Given the description of an element on the screen output the (x, y) to click on. 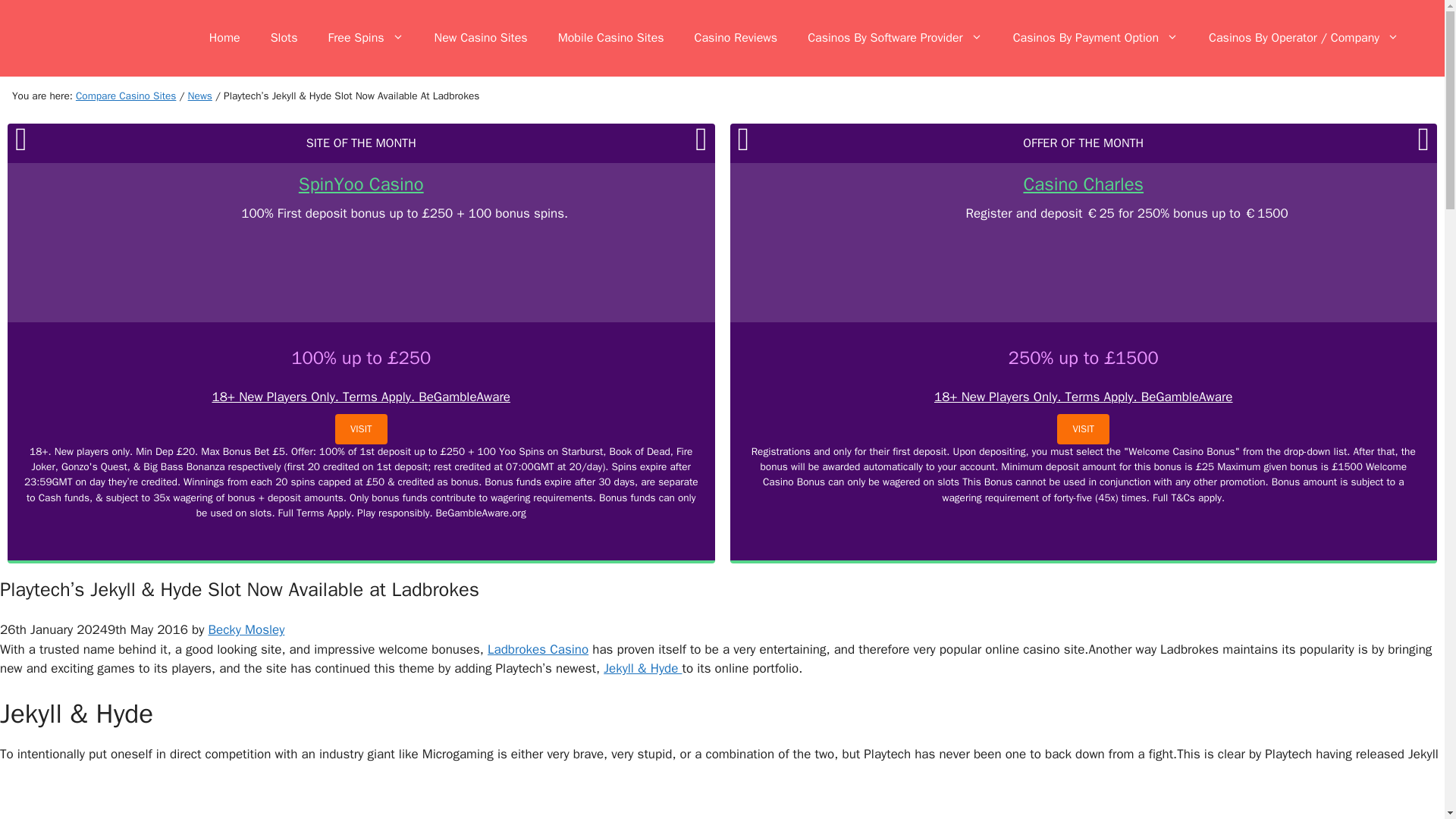
Casinos By Payment Option (1095, 37)
Casino Reviews (736, 37)
Mobile Casino Sites (611, 37)
New Casino Sites (481, 37)
Free Spins (366, 37)
View all posts by Becky Mosley (245, 629)
Home (224, 37)
Item (199, 95)
Compare Casino Sites (125, 95)
Casinos By Software Provider (894, 37)
Slots (284, 37)
News (199, 95)
